Given the description of an element on the screen output the (x, y) to click on. 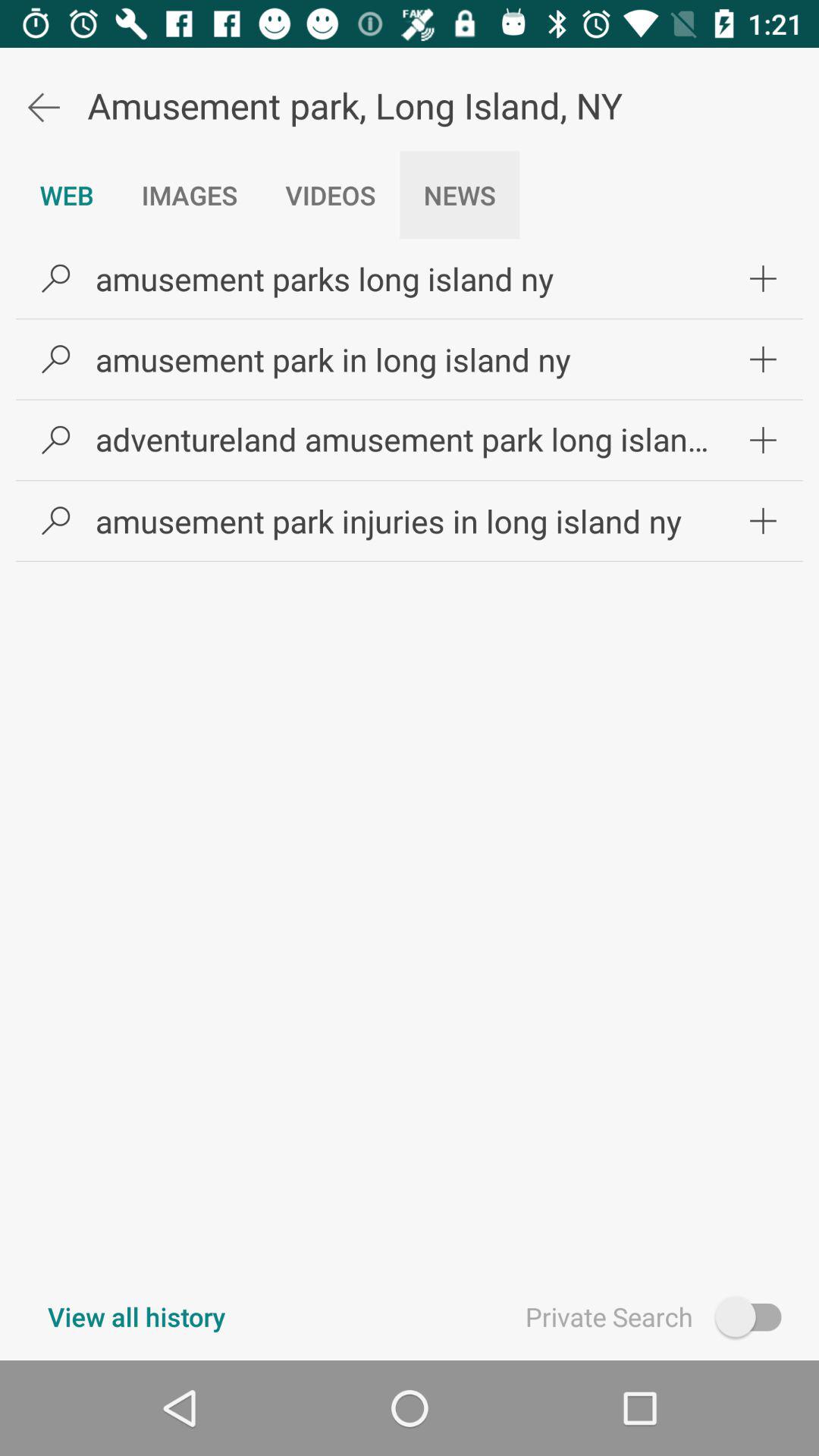
open the icon above amusement parks long (330, 194)
